Given the description of an element on the screen output the (x, y) to click on. 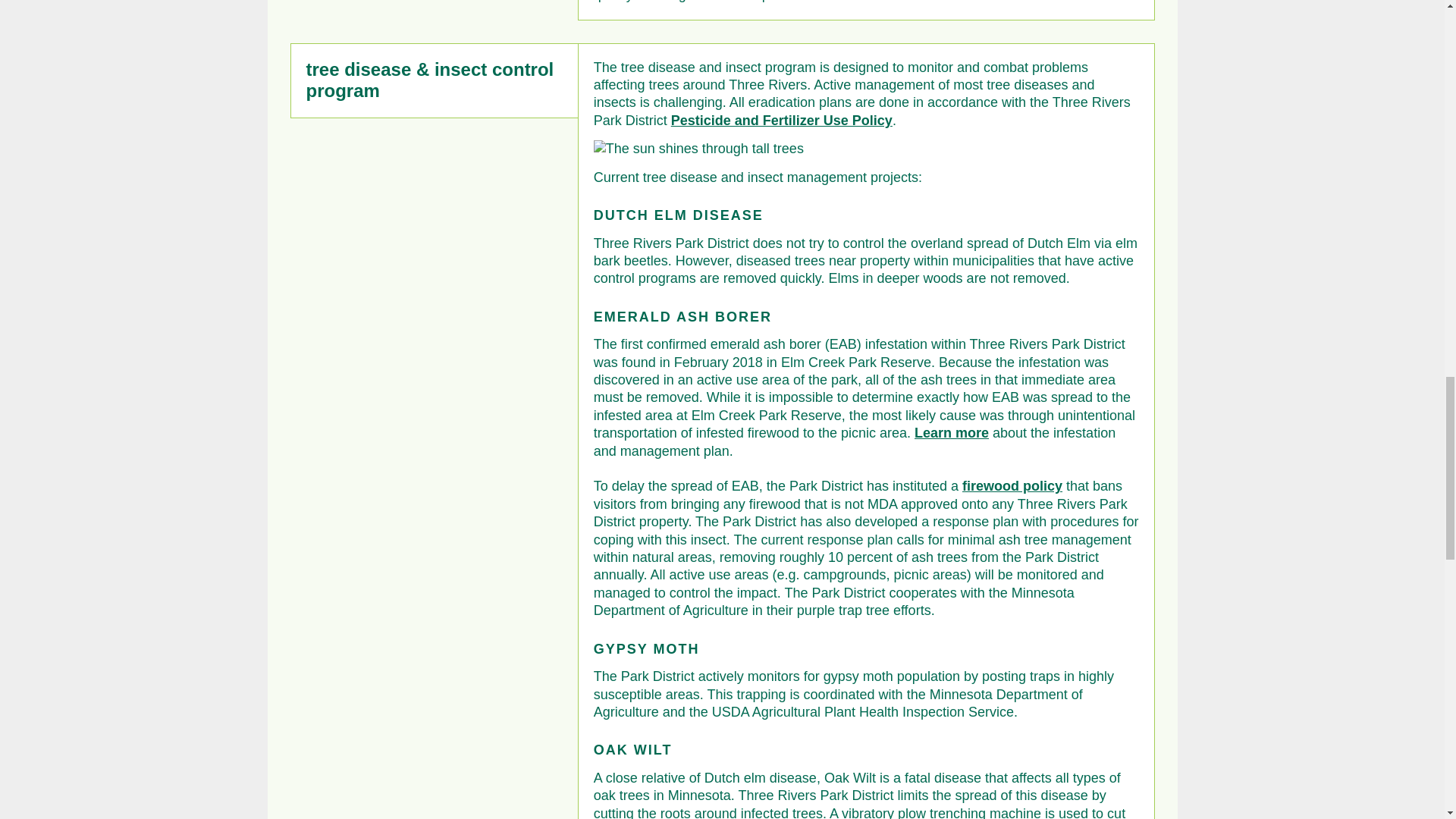
firewood policy (1012, 485)
Learn more (951, 432)
Pesticide and Fertilizer Use Policy (781, 120)
